Given the description of an element on the screen output the (x, y) to click on. 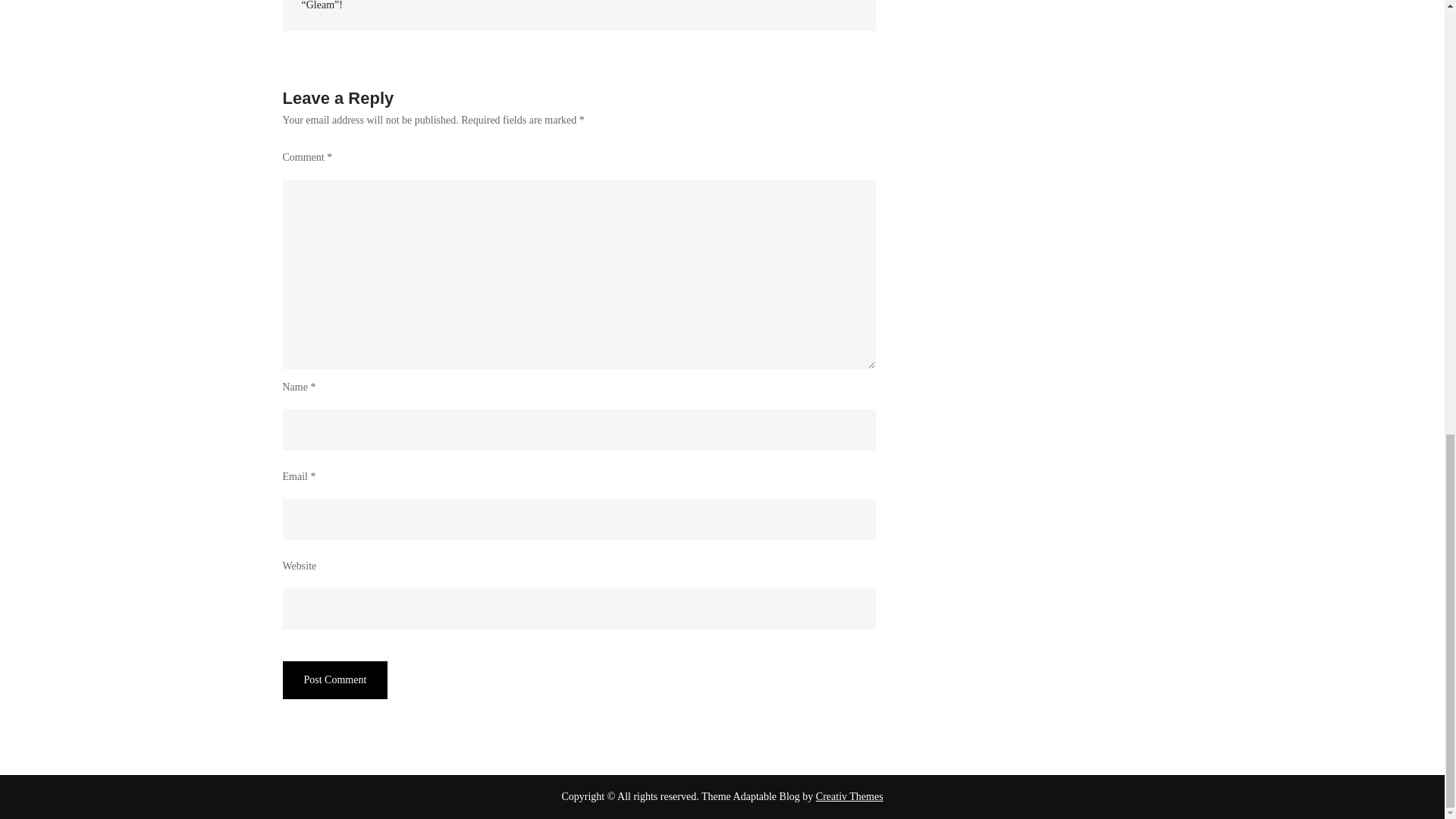
Post Comment (334, 679)
Post Comment (334, 679)
Creativ Themes (849, 796)
